Given the description of an element on the screen output the (x, y) to click on. 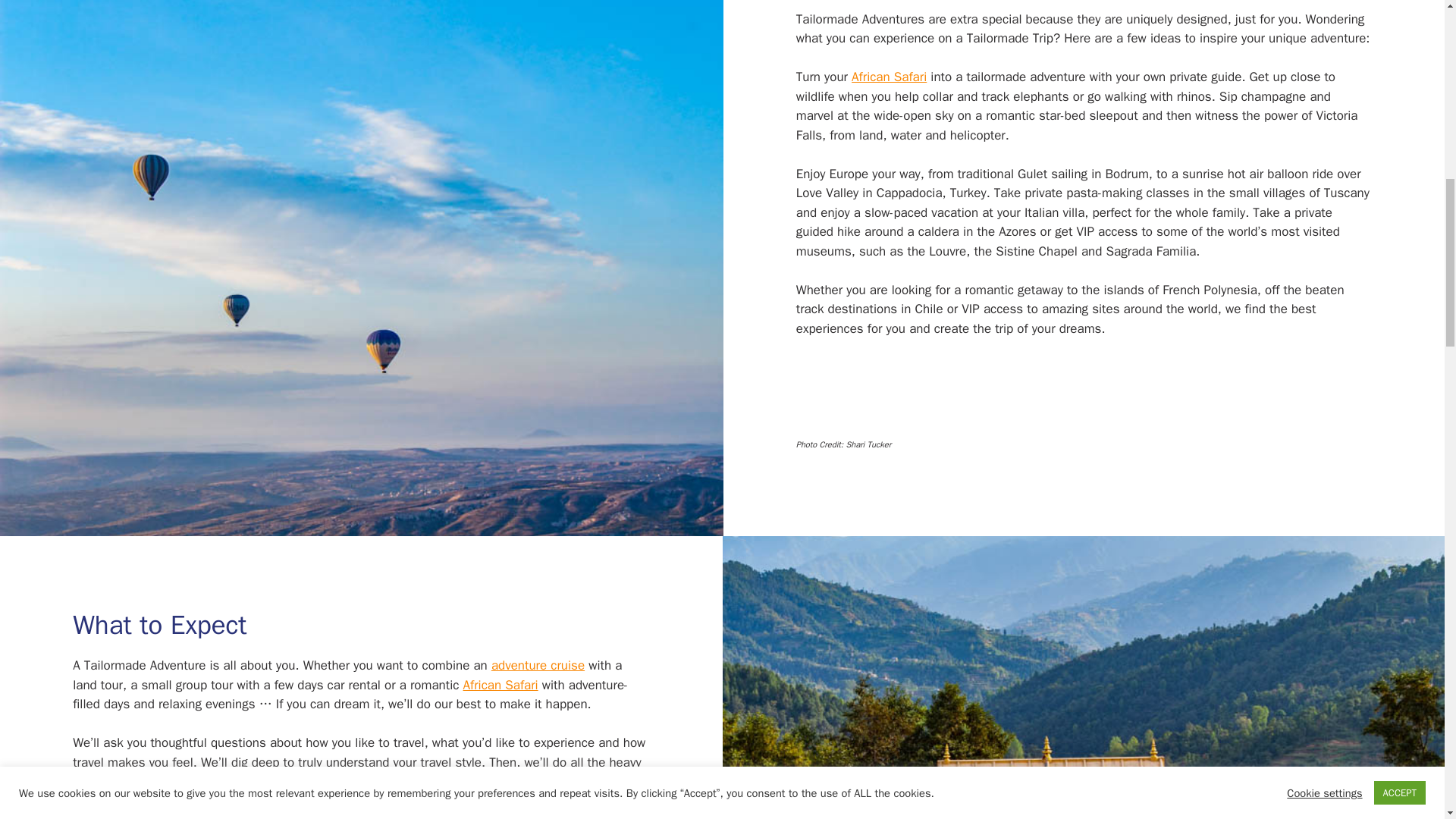
African Safari (888, 76)
